Given the description of an element on the screen output the (x, y) to click on. 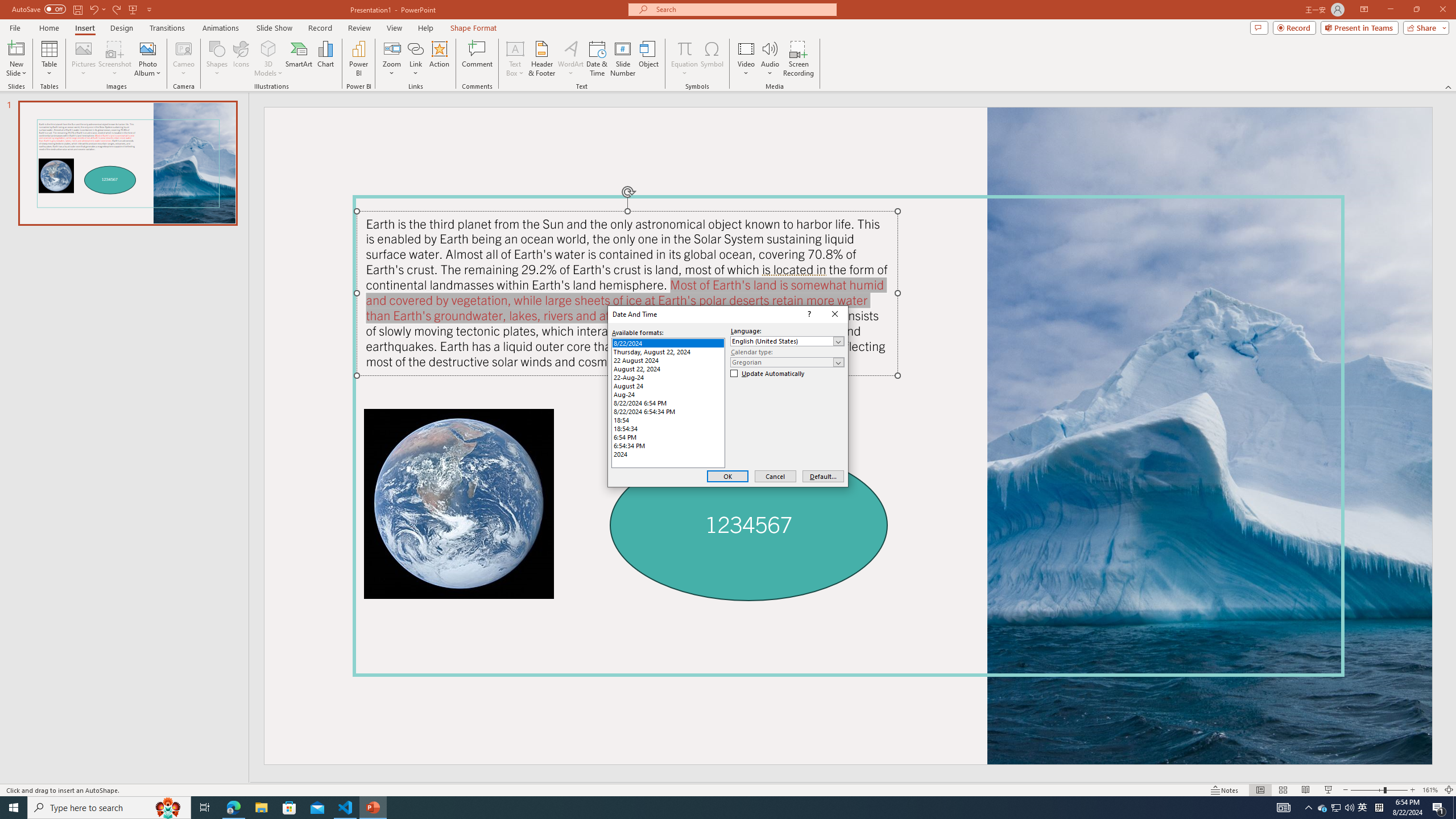
Header & Footer... (541, 58)
8/22/2024 6:54 PM (667, 402)
22 August 2024 (667, 360)
Default... (823, 476)
August 22, 2024 (667, 368)
22-Aug-24 (667, 377)
